Given the description of an element on the screen output the (x, y) to click on. 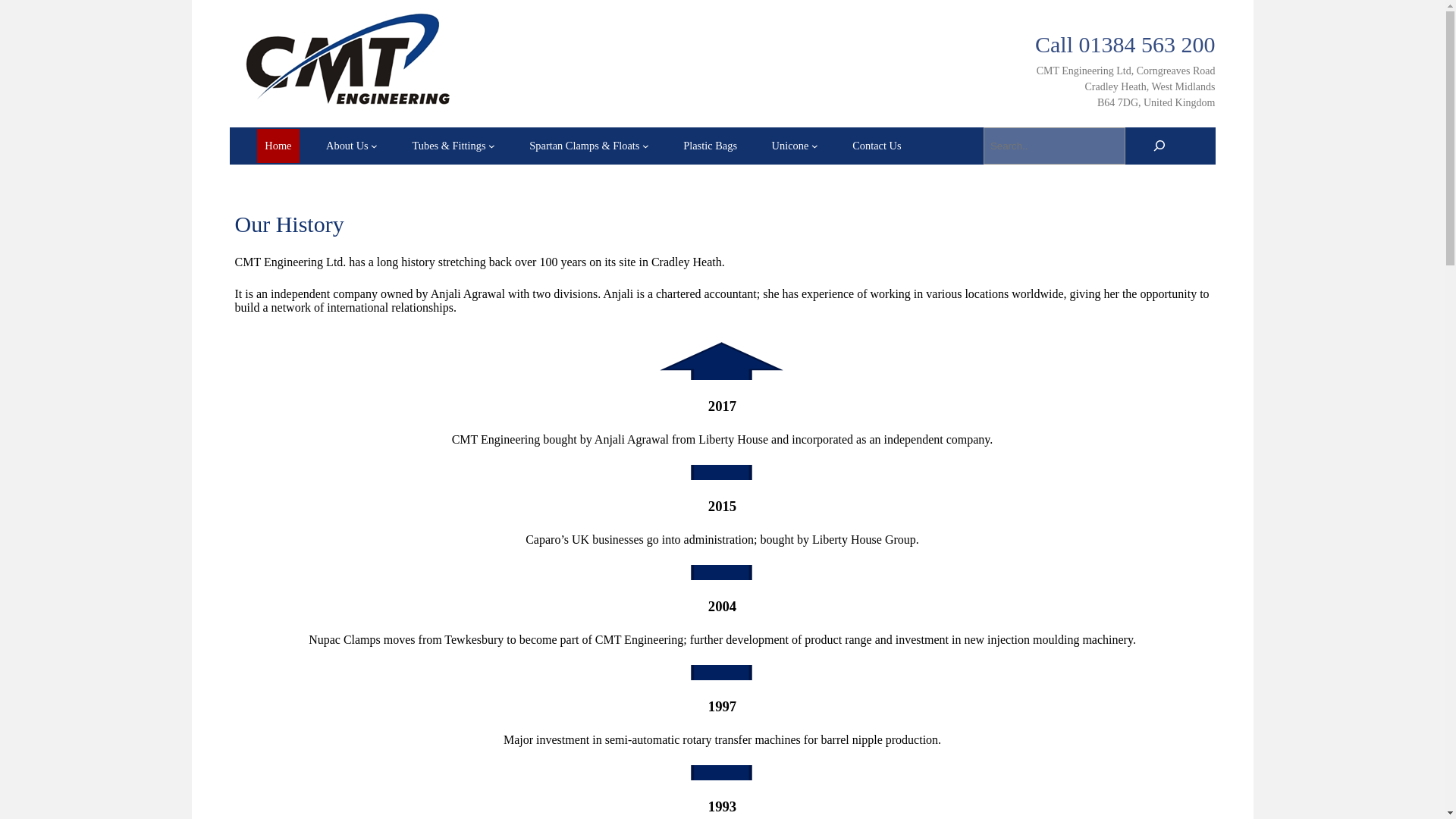
Unicone (790, 145)
Plastic Bags (709, 145)
About Us (347, 145)
Home (277, 145)
Contact Us (876, 145)
